Given the description of an element on the screen output the (x, y) to click on. 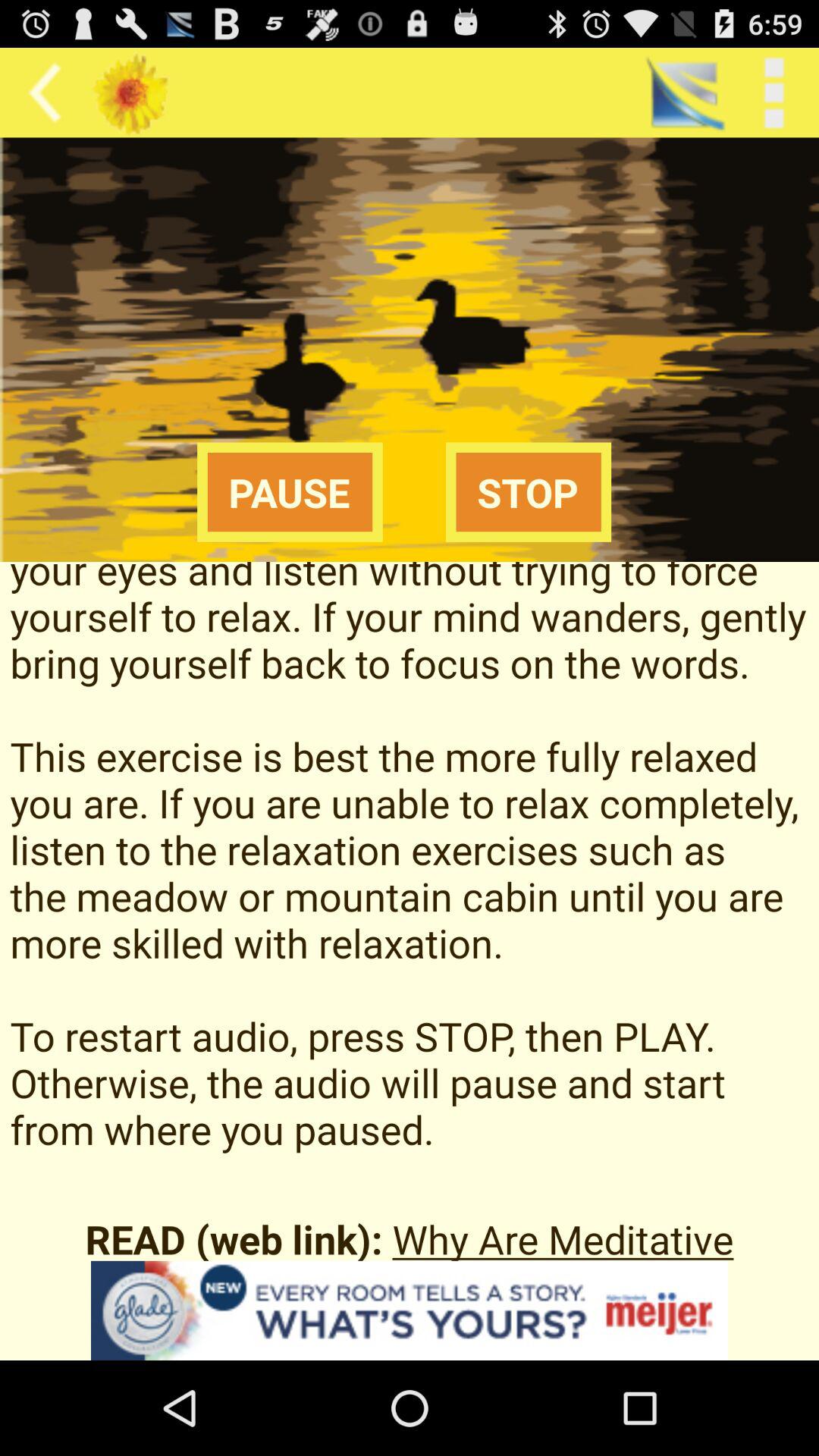
advert pop up (409, 1310)
